Given the description of an element on the screen output the (x, y) to click on. 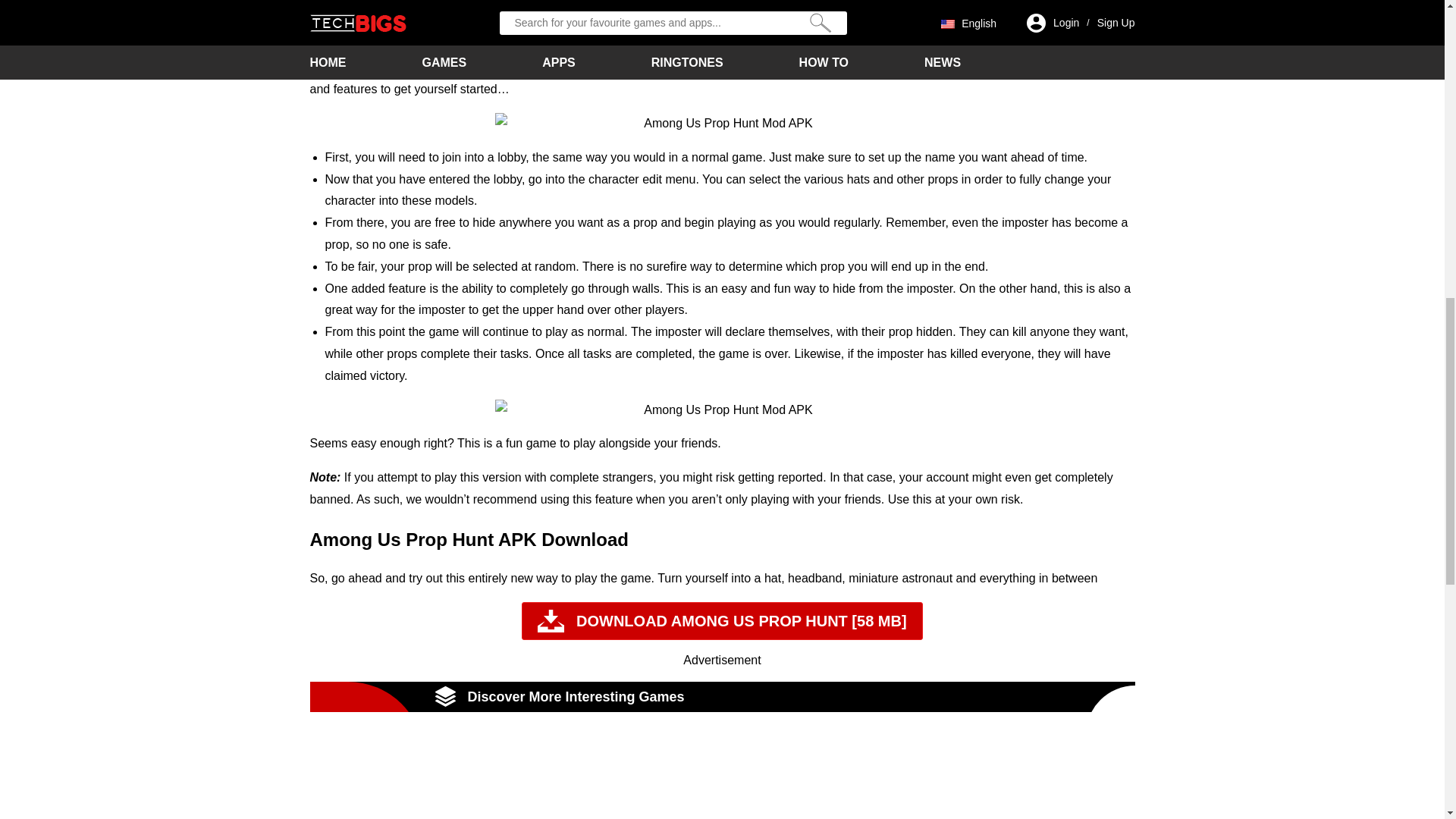
Among Us Prop Hunt Mod APK (722, 124)
Among Us Prop Hunt Mod APK (722, 410)
